Given the description of an element on the screen output the (x, y) to click on. 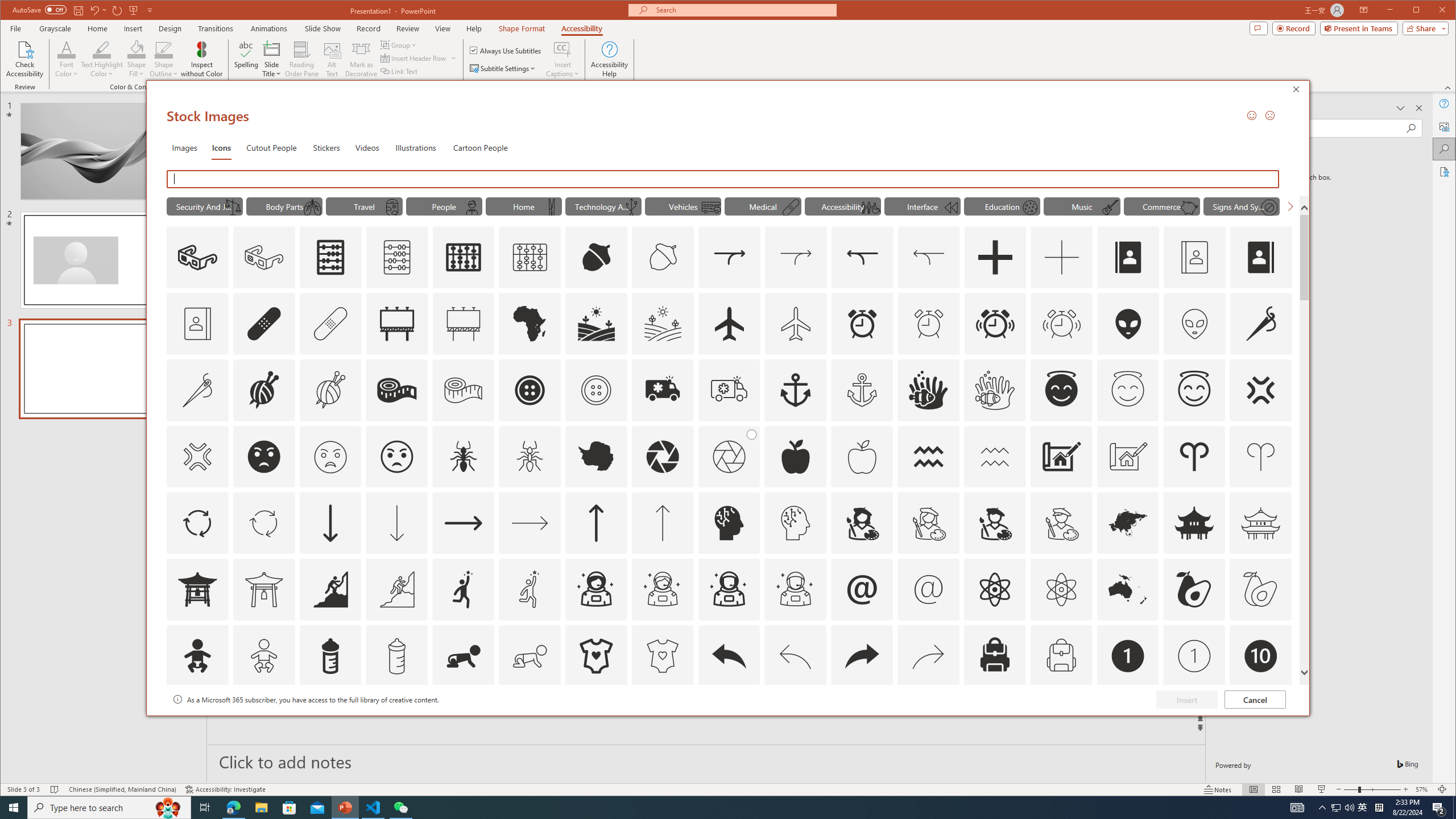
"Security And Justice" Icons. (204, 206)
"Music" Icons. (1082, 206)
"People" Icons. (443, 206)
AutomationID: Icons_AlienFace (1128, 323)
Reading Order Pane (301, 59)
AutomationID: Icons_AstronautMale_M (795, 589)
AutomationID: Icons_ArtistFemale (861, 522)
AutomationID: Icons_AngryFace (263, 456)
Thumbnail (1282, 699)
AutomationID: Icons_Peg_M (551, 207)
